Given the description of an element on the screen output the (x, y) to click on. 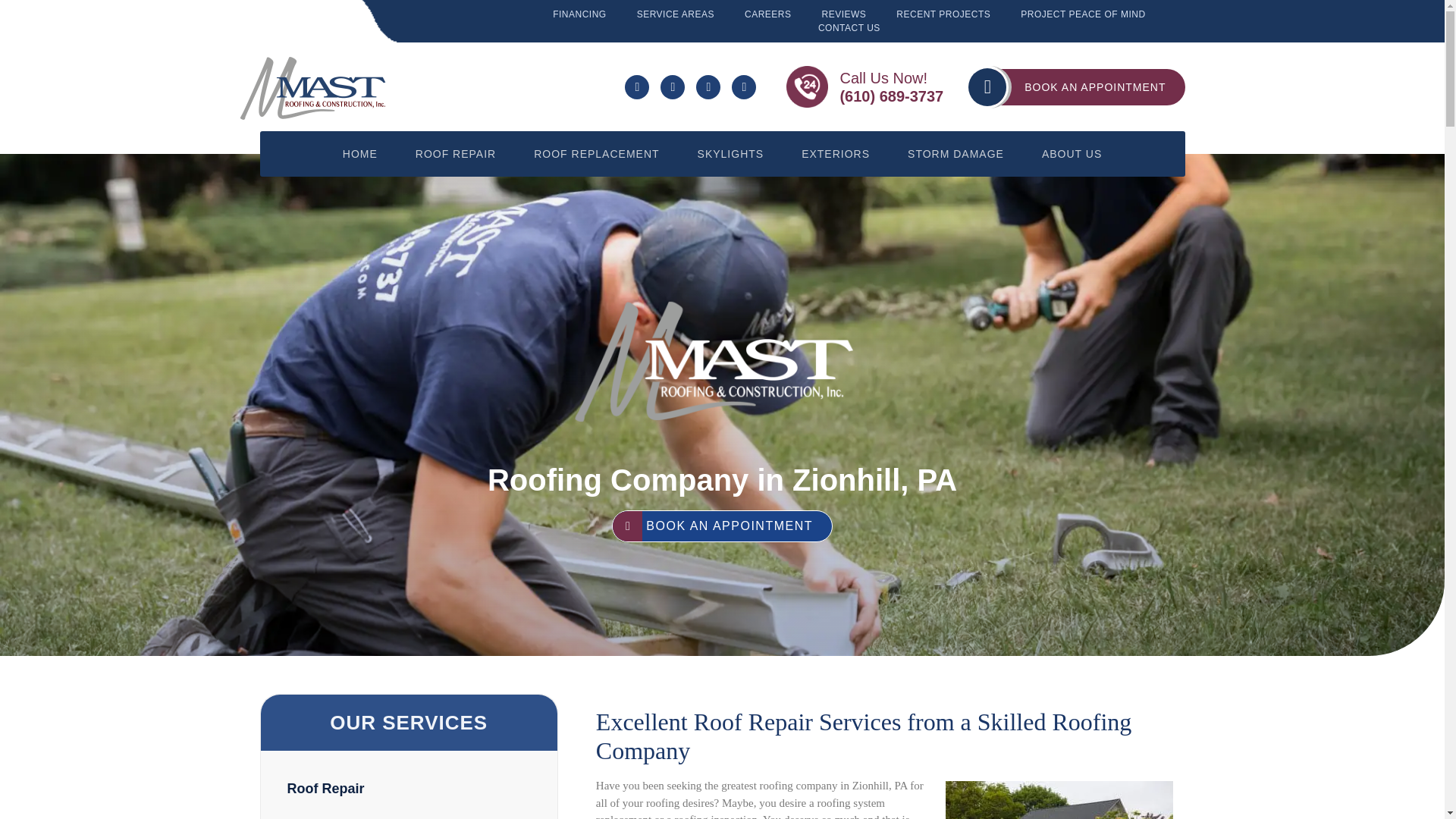
REVIEWS (844, 14)
CONTACT US (849, 28)
SERVICE AREAS (675, 14)
PROJECT PEACE OF MIND (1082, 14)
FINANCING (580, 14)
RECENT PROJECTS (943, 14)
CAREERS (768, 14)
